Given the description of an element on the screen output the (x, y) to click on. 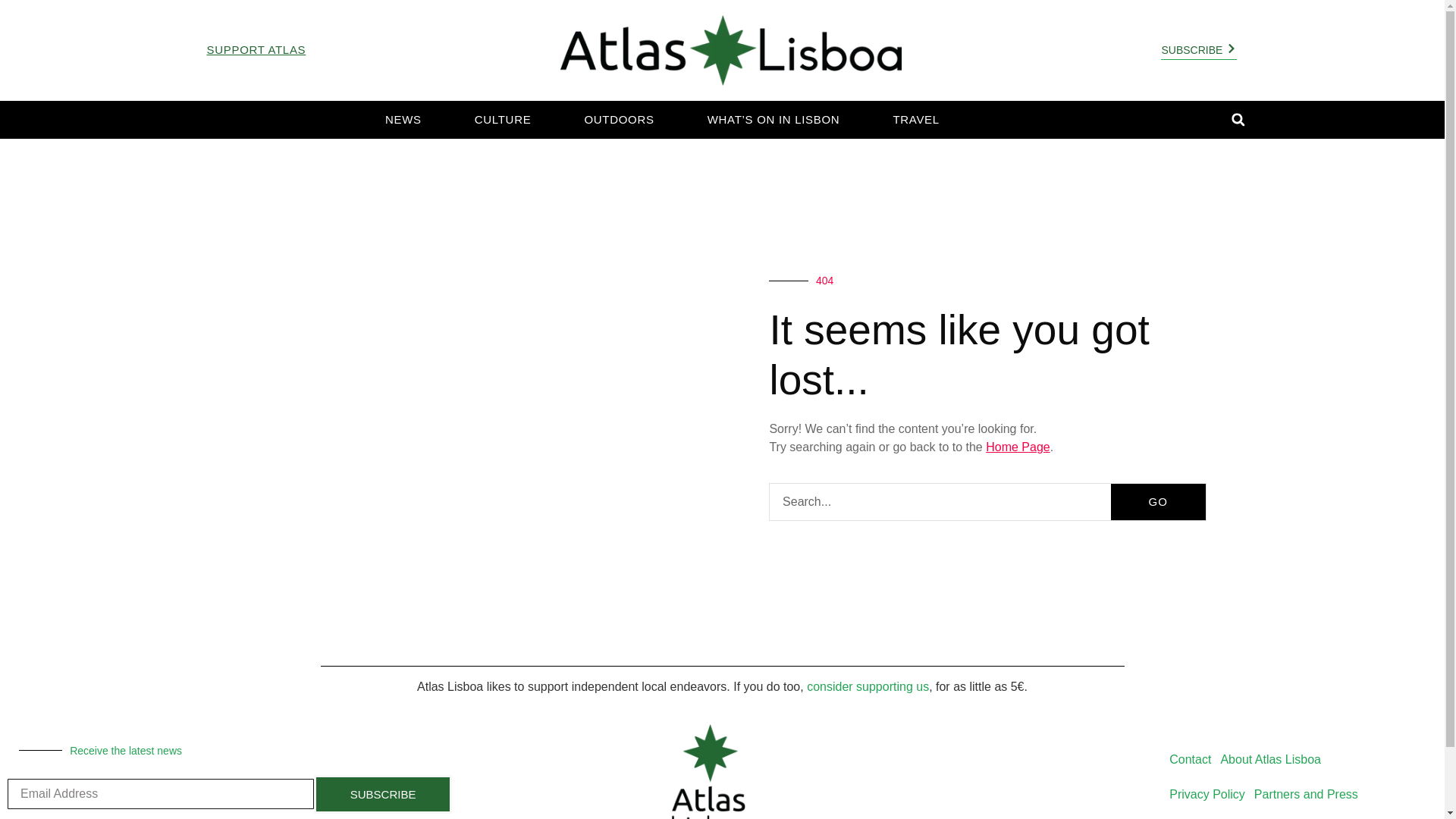
consider supporting us (867, 686)
SUPPORT ATLAS (255, 49)
About Atlas Lisboa (1269, 759)
OUTDOORS (618, 119)
SUBSCRIBE (382, 794)
Privacy Policy (1206, 794)
TRAVEL (914, 119)
GO (1157, 502)
SUBSCRIBE (1198, 50)
NEWS (403, 119)
CULTURE (502, 119)
Contact (1189, 759)
Partners and Press (1305, 794)
